Given the description of an element on the screen output the (x, y) to click on. 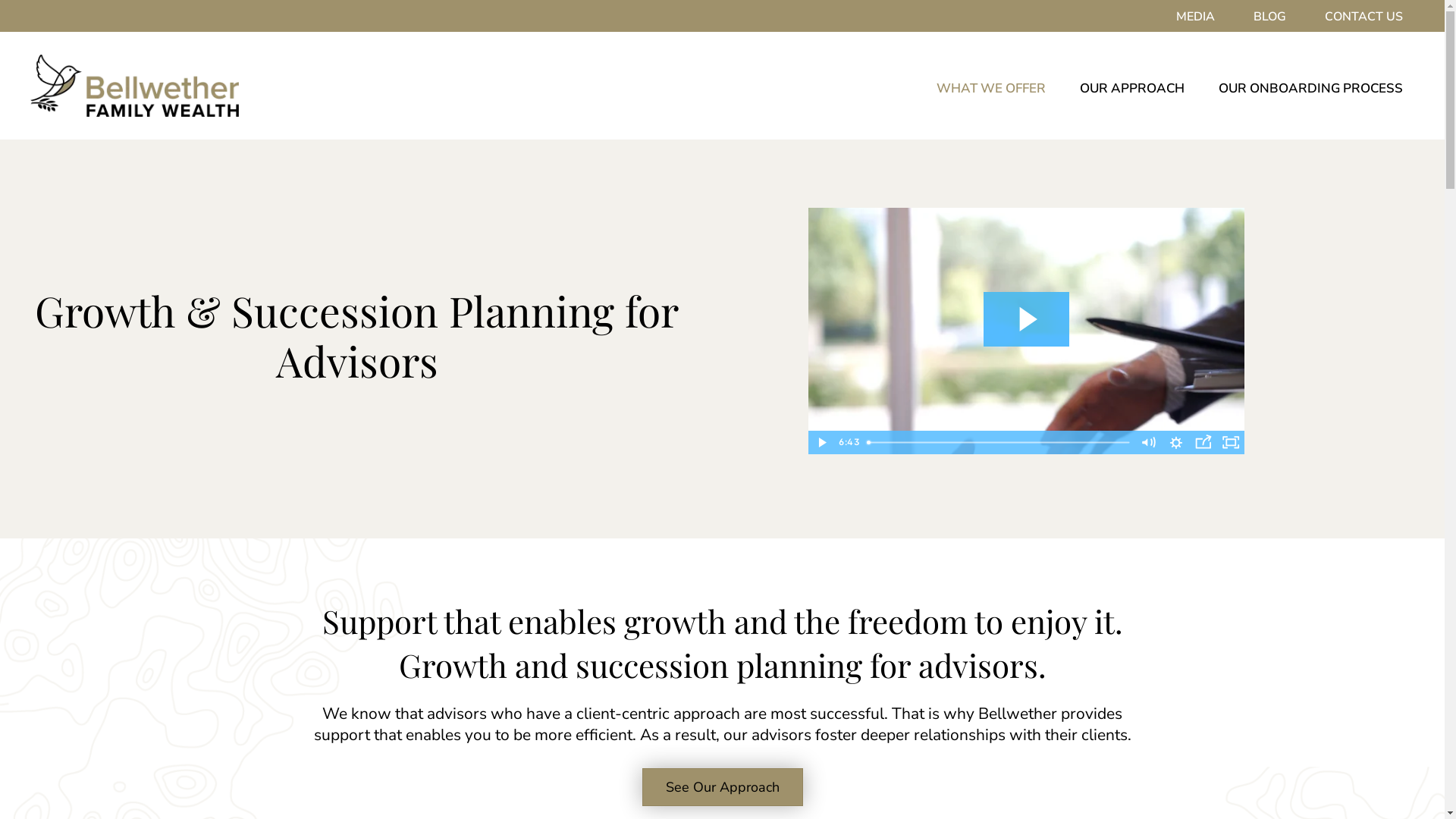
OUR APPROACH Element type: text (1127, 88)
WHAT WE OFFER Element type: text (987, 88)
Wistia video player Element type: hover (1026, 330)
OUR ONBOARDING PROCESS Element type: text (1306, 88)
See Our Approach Element type: text (721, 787)
